Given the description of an element on the screen output the (x, y) to click on. 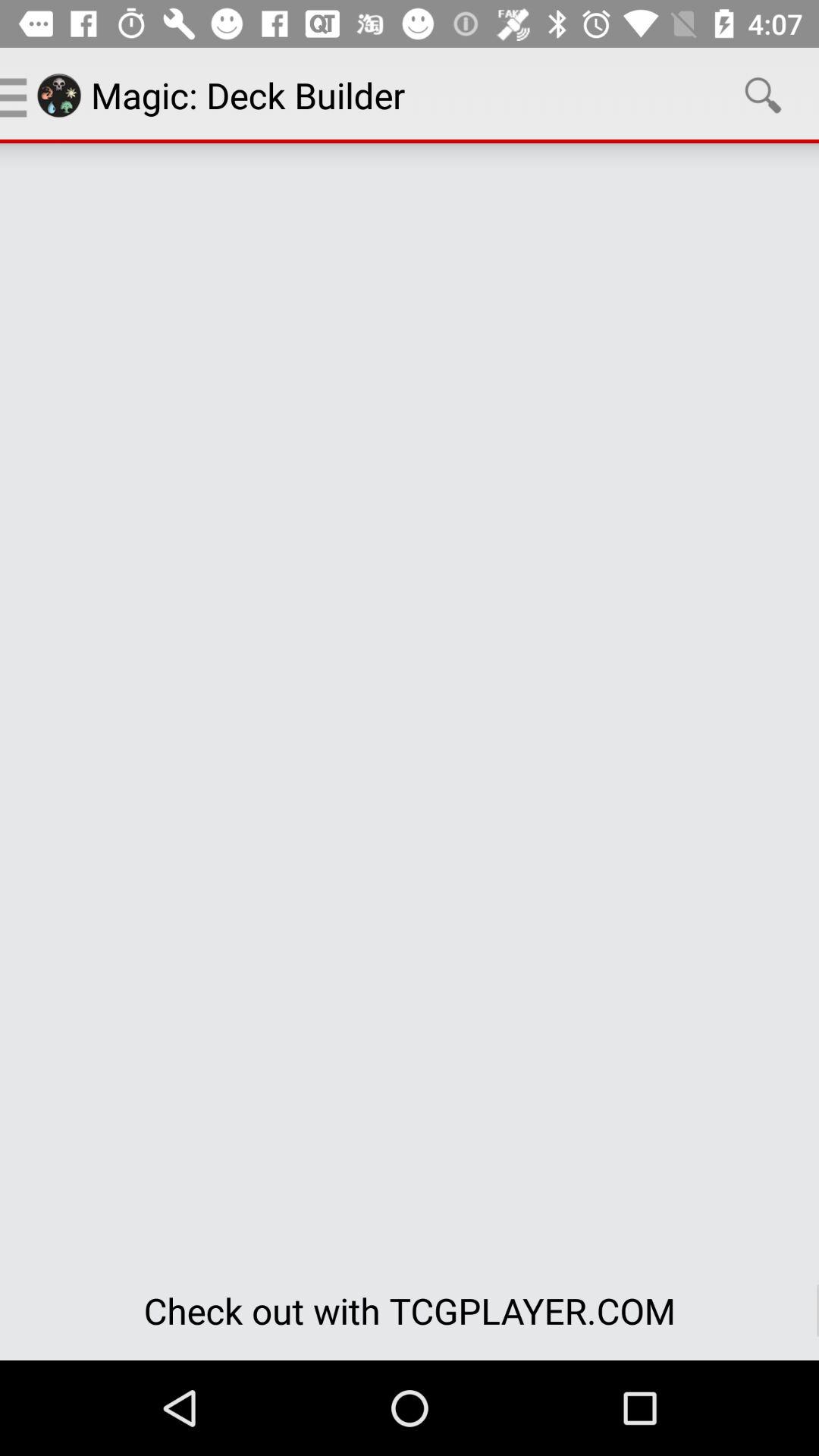
select the check out with item (409, 1310)
